Given the description of an element on the screen output the (x, y) to click on. 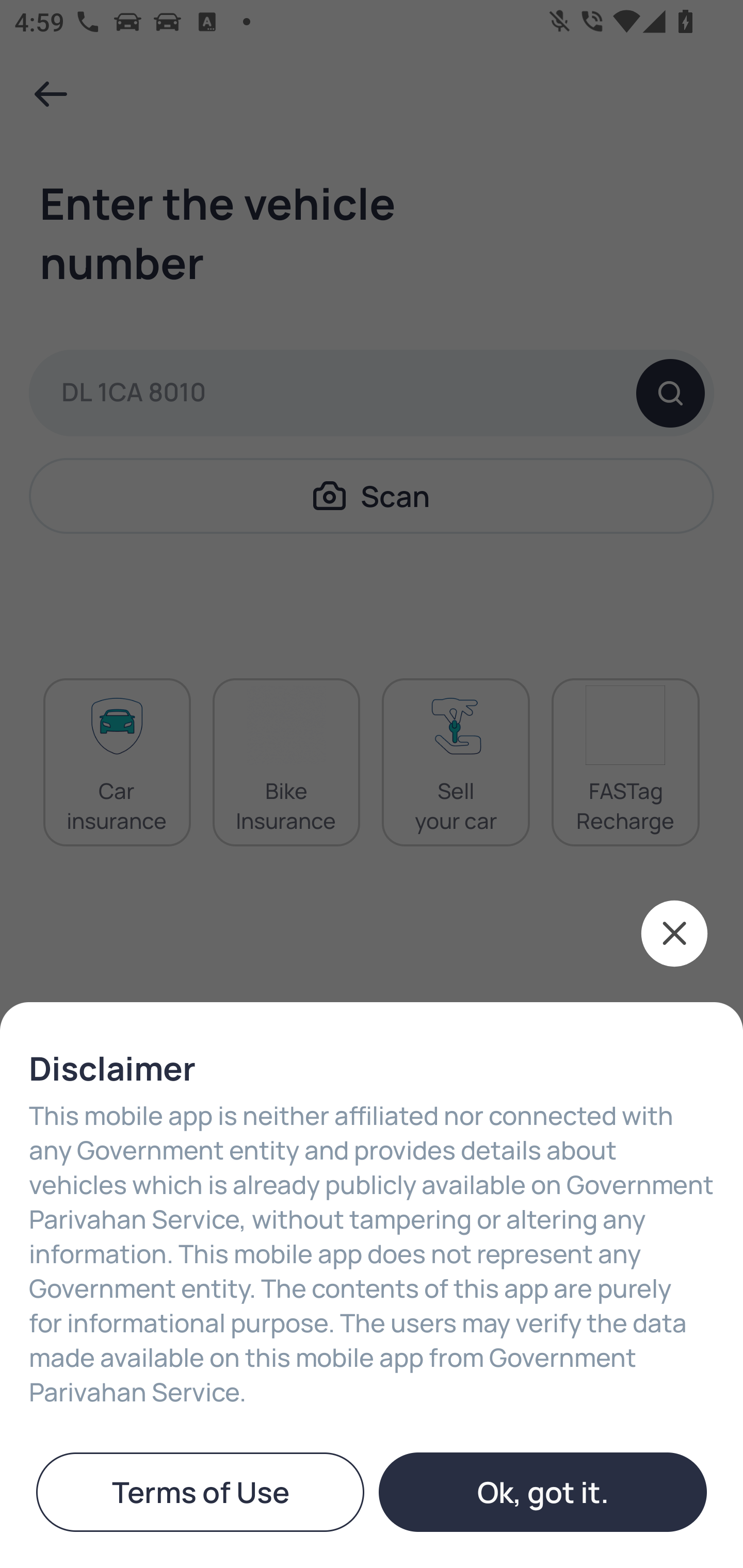
Terms of Use (200, 1491)
Ok, got it. (542, 1491)
